Given the description of an element on the screen output the (x, y) to click on. 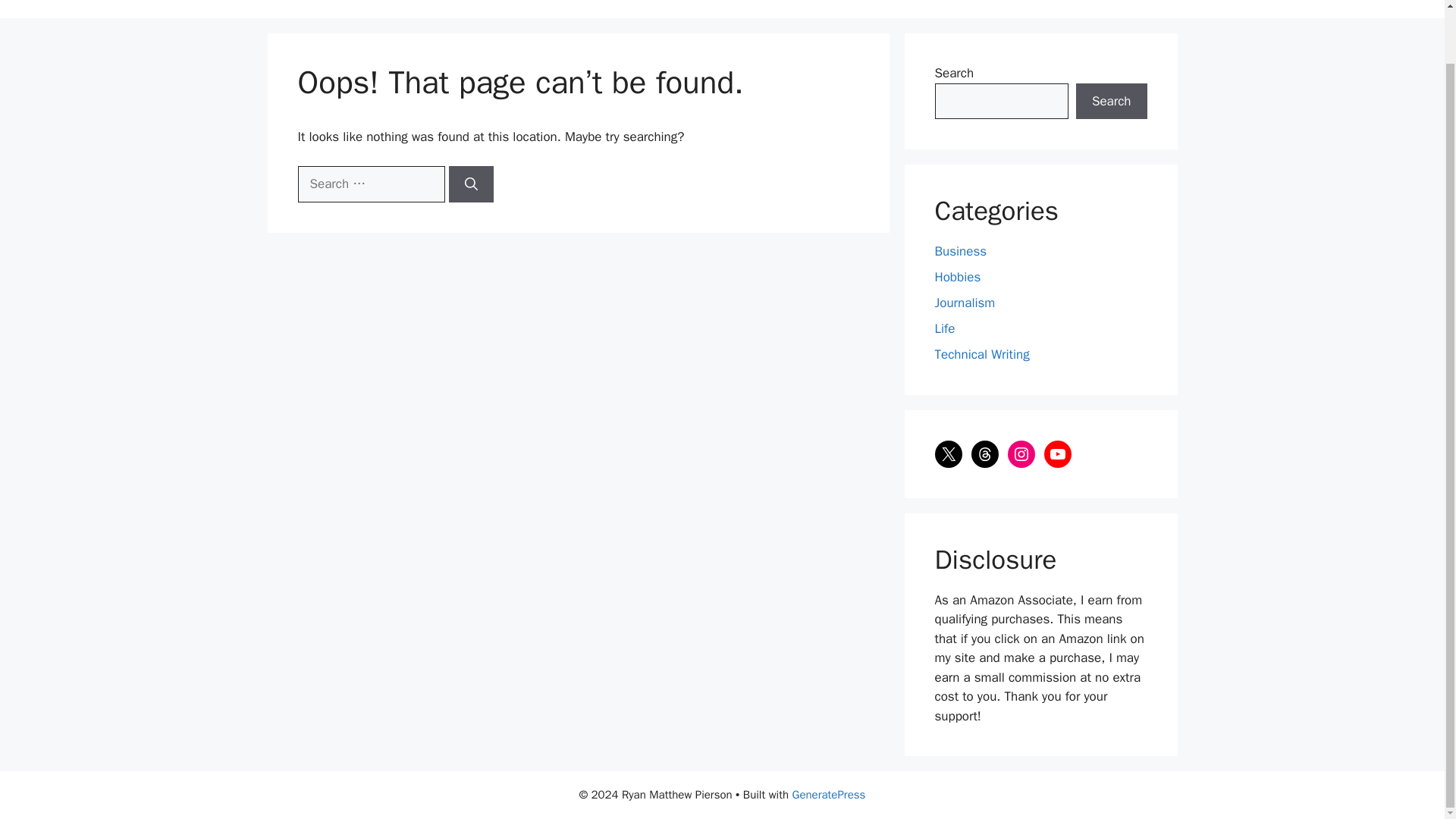
Business (960, 251)
Search for: (370, 184)
X (947, 452)
Hobbies (956, 277)
Technical Writing (981, 354)
YouTube (1056, 452)
Journalism (964, 302)
GeneratePress (829, 794)
Life (944, 328)
Instagram (1020, 452)
Search (1111, 101)
Threads (984, 452)
